Given the description of an element on the screen output the (x, y) to click on. 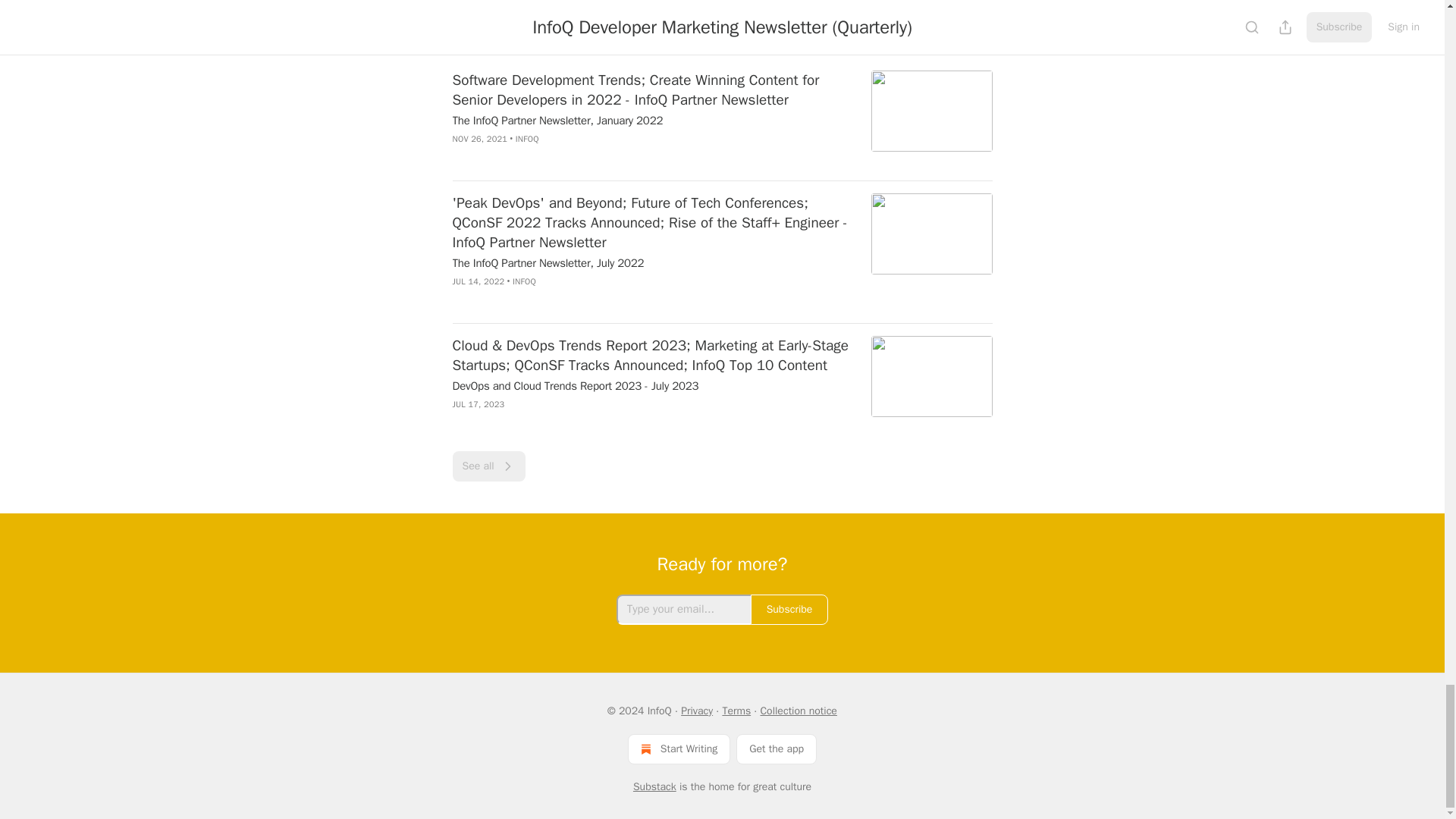
Top (471, 37)
Latest (518, 37)
The InfoQ Partner Newsletter, January 2022 (651, 120)
